Given the description of an element on the screen output the (x, y) to click on. 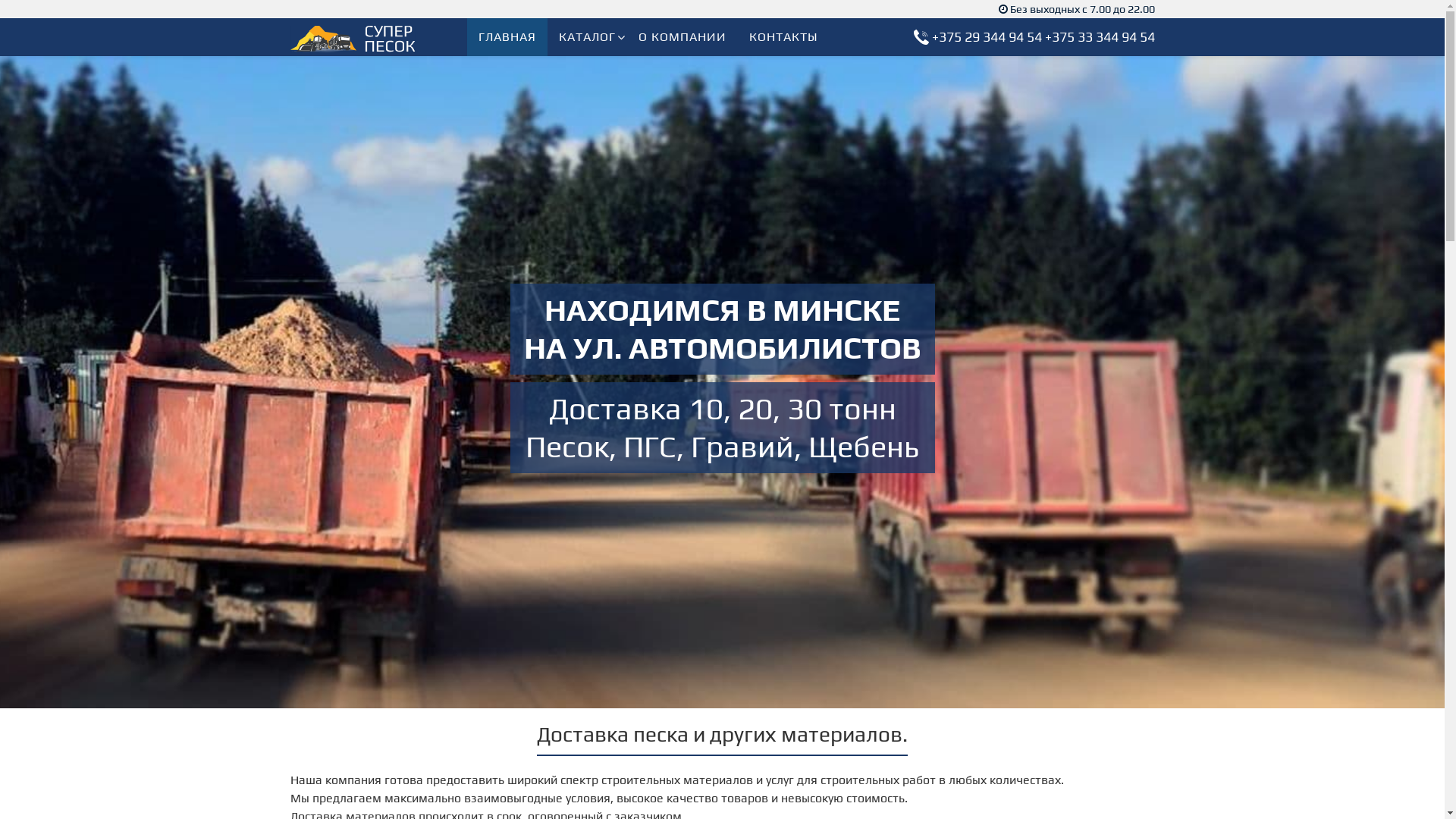
+375 29 344 94 54 Element type: text (986, 36)
+375 33 344 94 54 Element type: text (1099, 36)
